Given the description of an element on the screen output the (x, y) to click on. 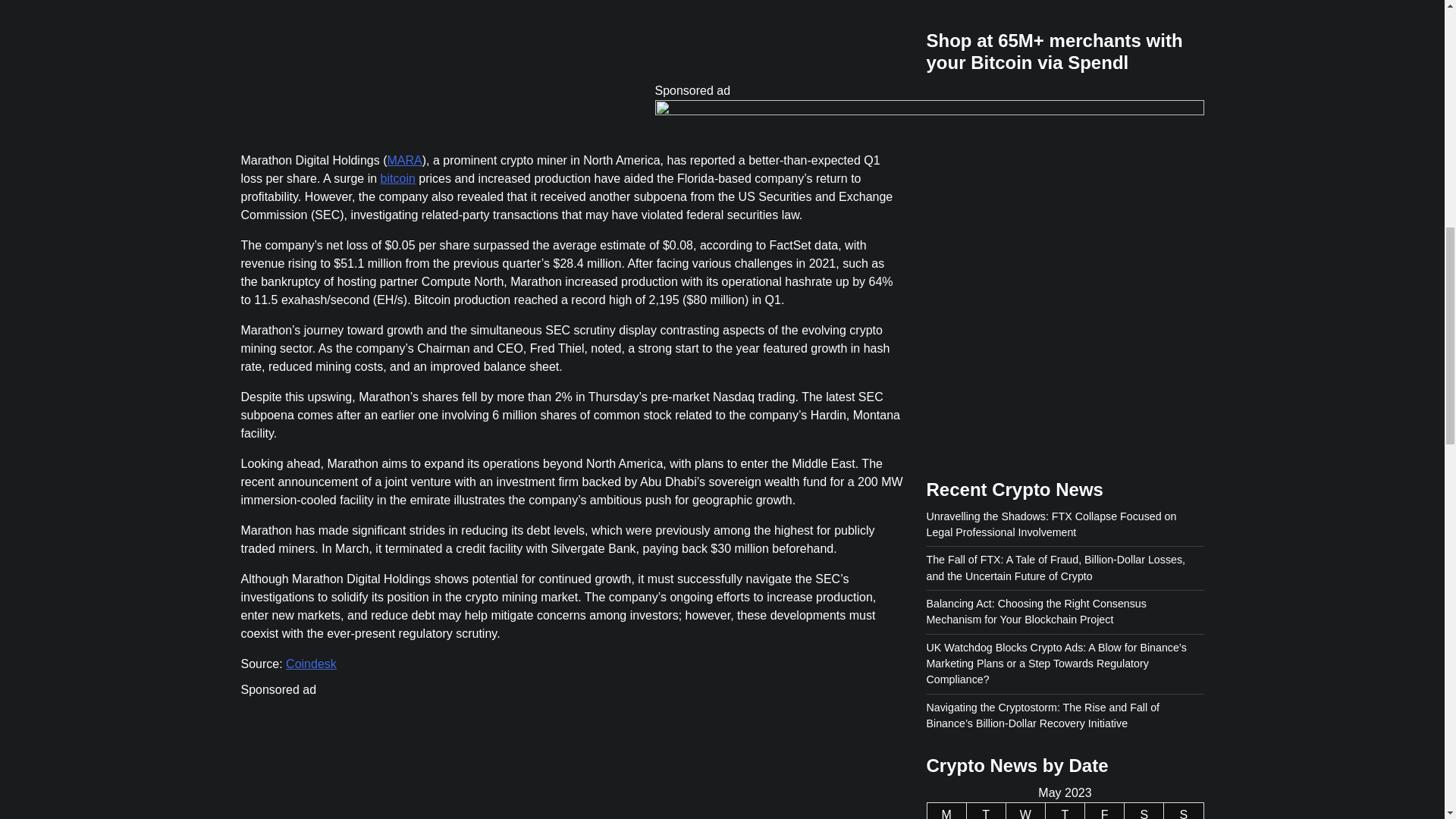
Friday (1104, 143)
Monday (946, 143)
Coindesk (310, 663)
Tuesday (986, 143)
Thursday (1064, 143)
MARA (404, 160)
bitcoin (397, 178)
Sunday (1183, 143)
Wednesday (1025, 143)
Saturday (1143, 143)
